Given the description of an element on the screen output the (x, y) to click on. 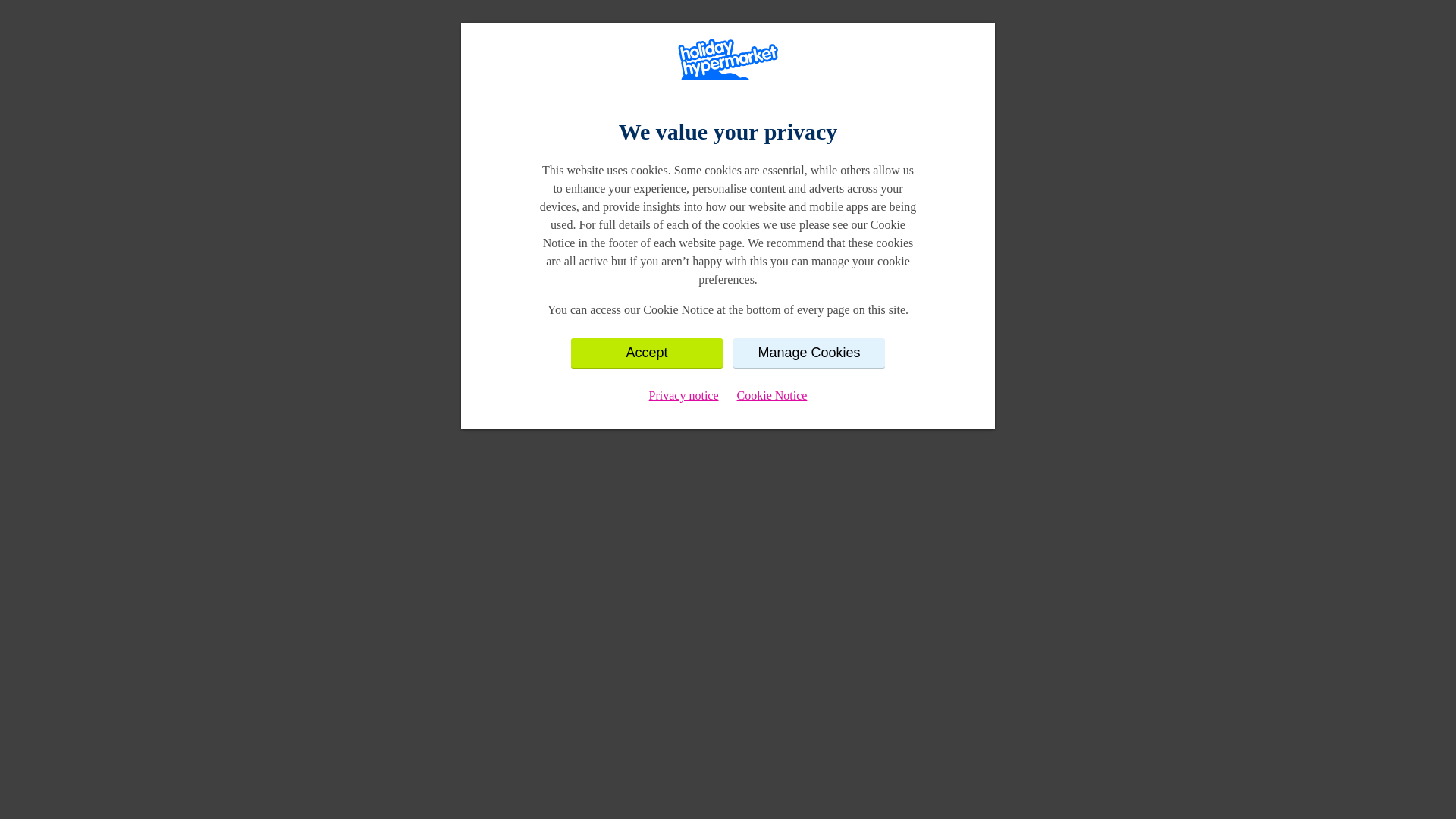
Go To Homepage (727, 259)
